Given the description of an element on the screen output the (x, y) to click on. 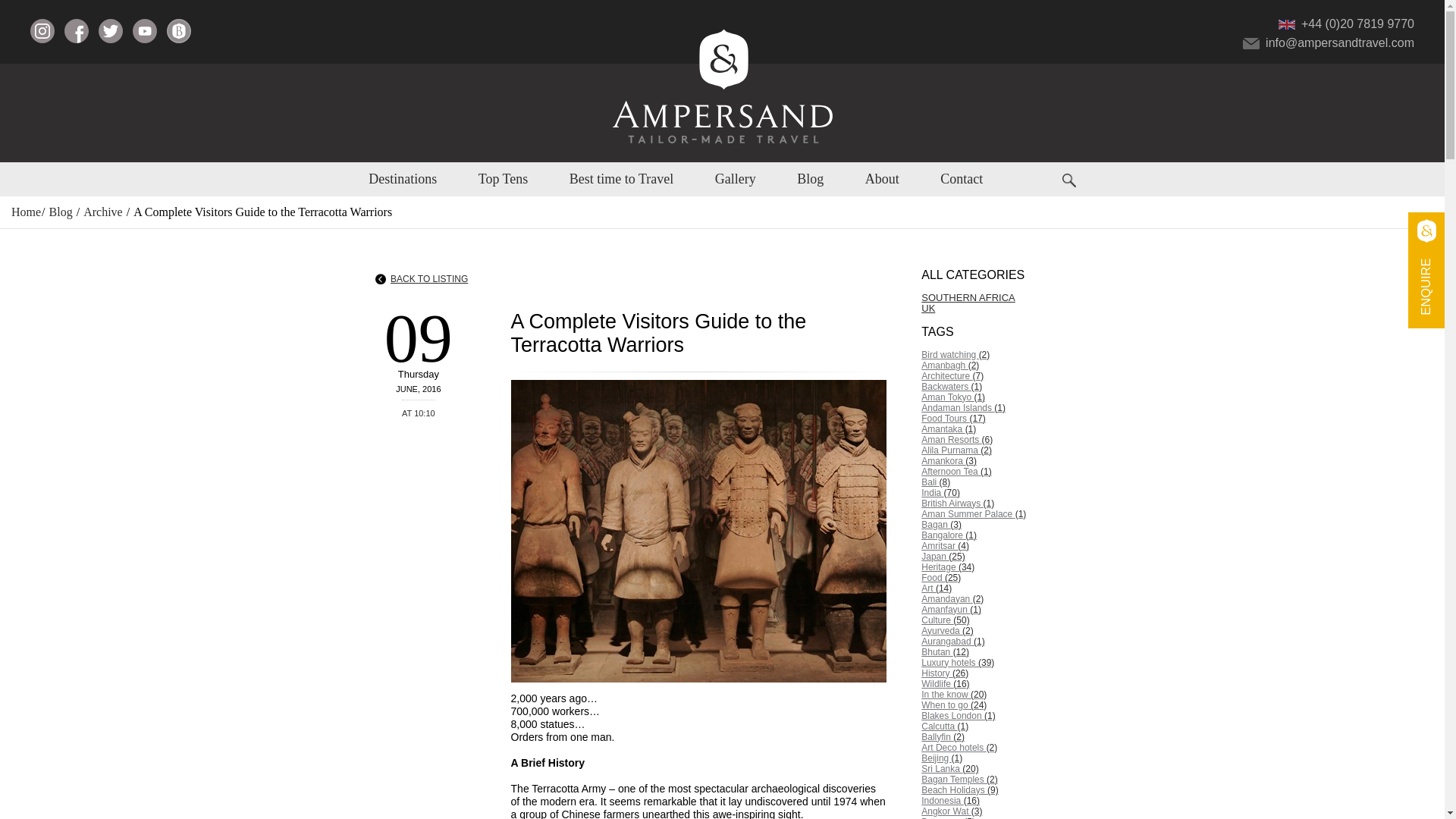
Amankora (994, 460)
Category: UK (994, 308)
Category: Southern Africa (994, 297)
Bird watching (994, 354)
Amantaka (994, 429)
Food Tours (994, 418)
Architecture (994, 376)
Destinations (402, 179)
Back (421, 278)
Aman Tokyo (994, 397)
Andaman Islands (994, 407)
Aman Resorts (994, 439)
Alila Purnama (994, 450)
Backwaters (994, 386)
Amanbagh (994, 365)
